Given the description of an element on the screen output the (x, y) to click on. 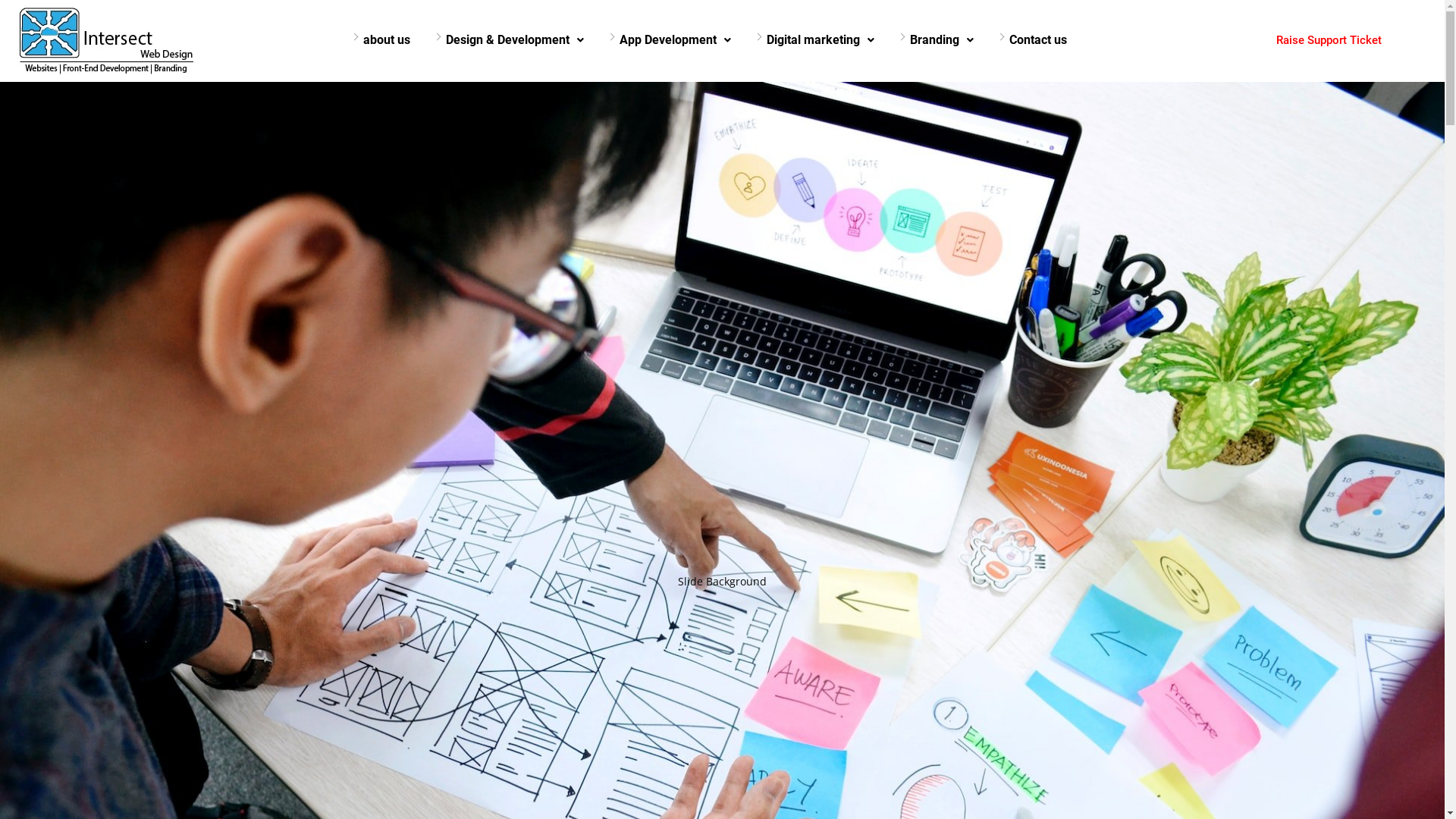
App Development Element type: text (675, 39)
Design & Development Element type: text (514, 39)
about us Element type: text (386, 39)
Contact us Element type: text (1037, 39)
Digital marketing Element type: text (820, 39)
Branding Element type: text (941, 39)
Raise Support Ticket Element type: text (1328, 40)
